Given the description of an element on the screen output the (x, y) to click on. 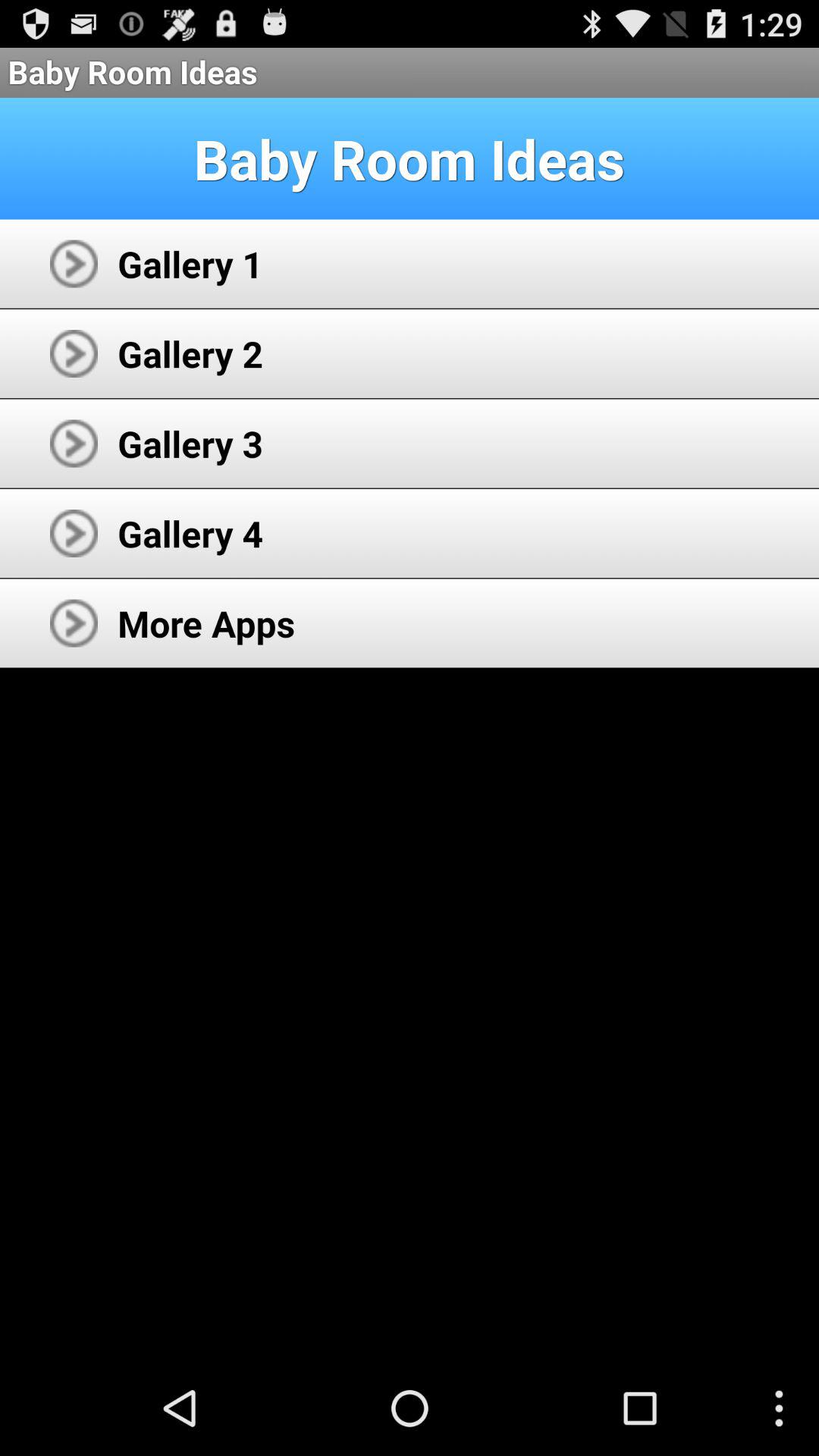
turn off the gallery 4 app (190, 533)
